Given the description of an element on the screen output the (x, y) to click on. 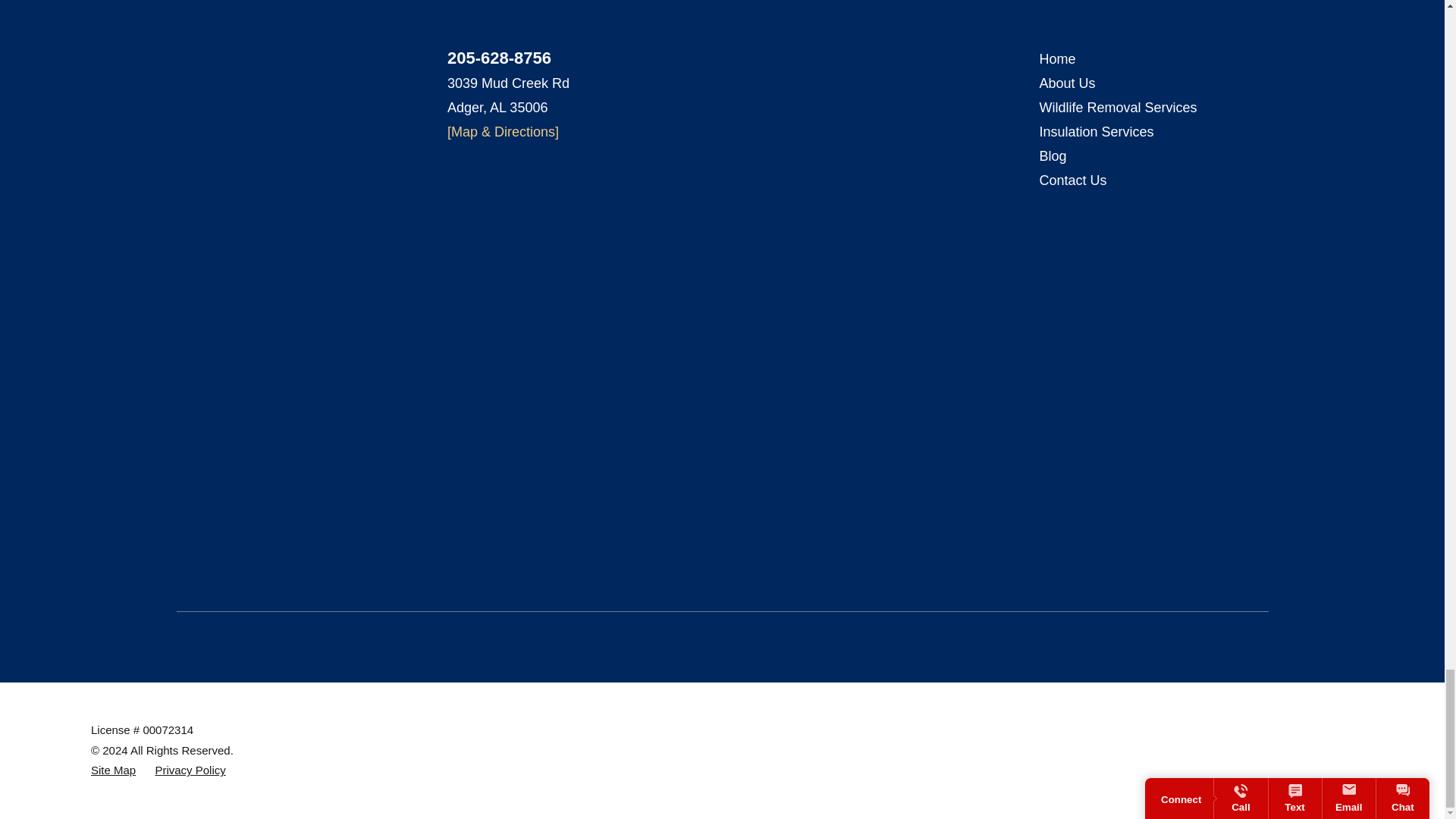
Google Business Profile (242, 98)
Facebook (213, 98)
BBB.org (184, 98)
